Given the description of an element on the screen output the (x, y) to click on. 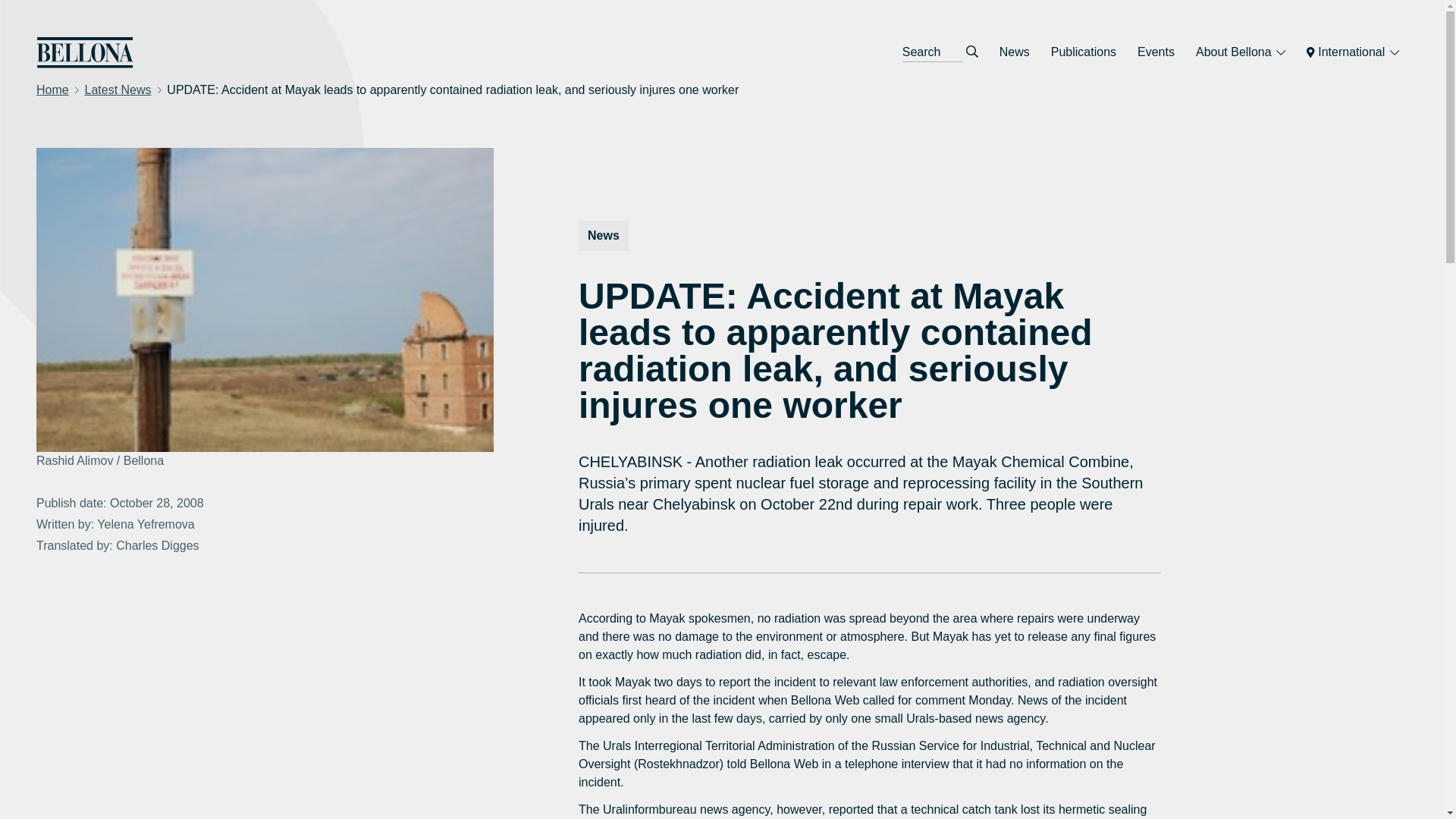
Latest News (117, 90)
International (1352, 51)
News (1014, 51)
Events (1155, 51)
Publications (1083, 51)
About Bellona (1240, 51)
Home (52, 90)
